Given the description of an element on the screen output the (x, y) to click on. 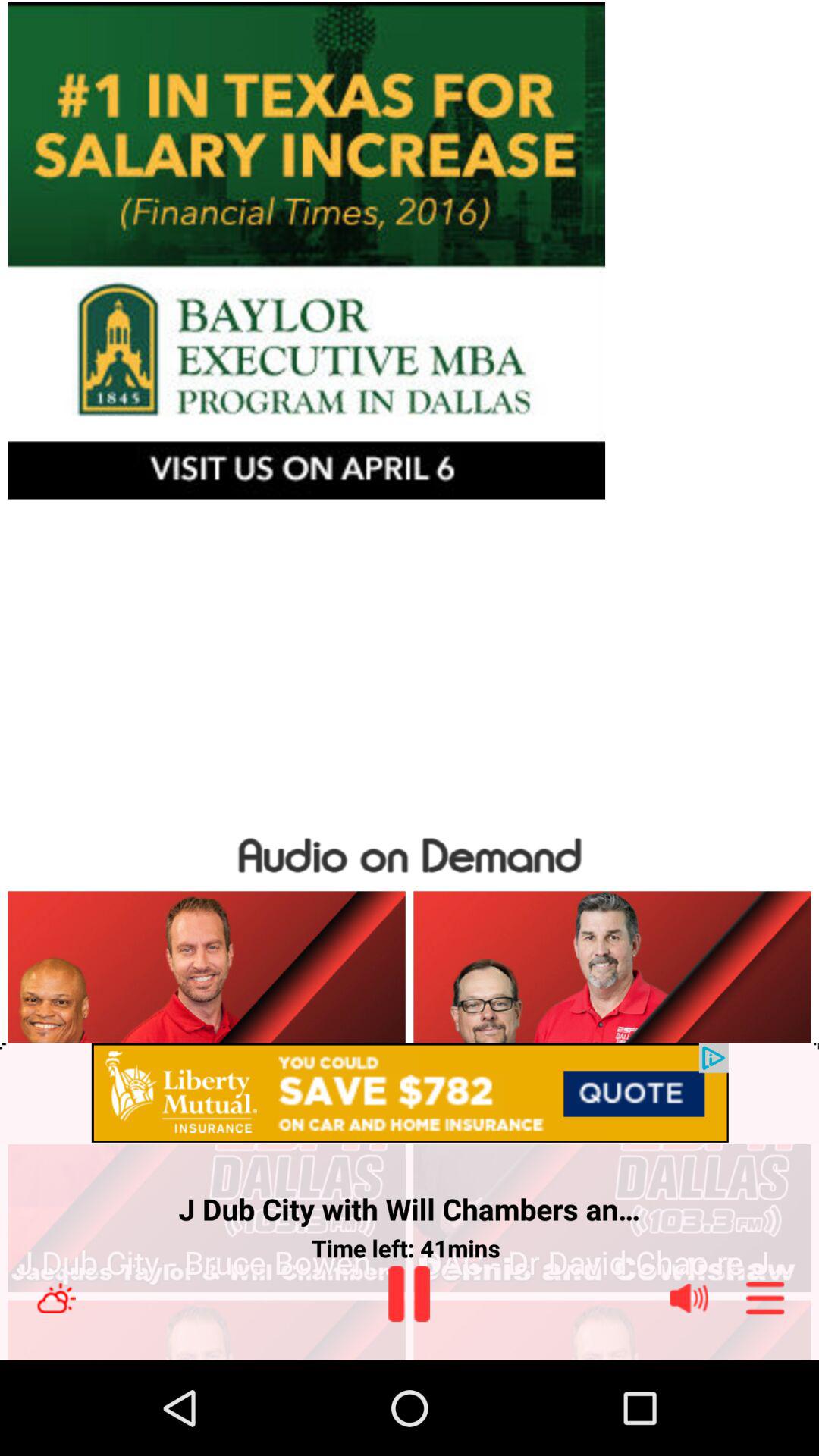
launch dac dr david item (612, 1262)
